Given the description of an element on the screen output the (x, y) to click on. 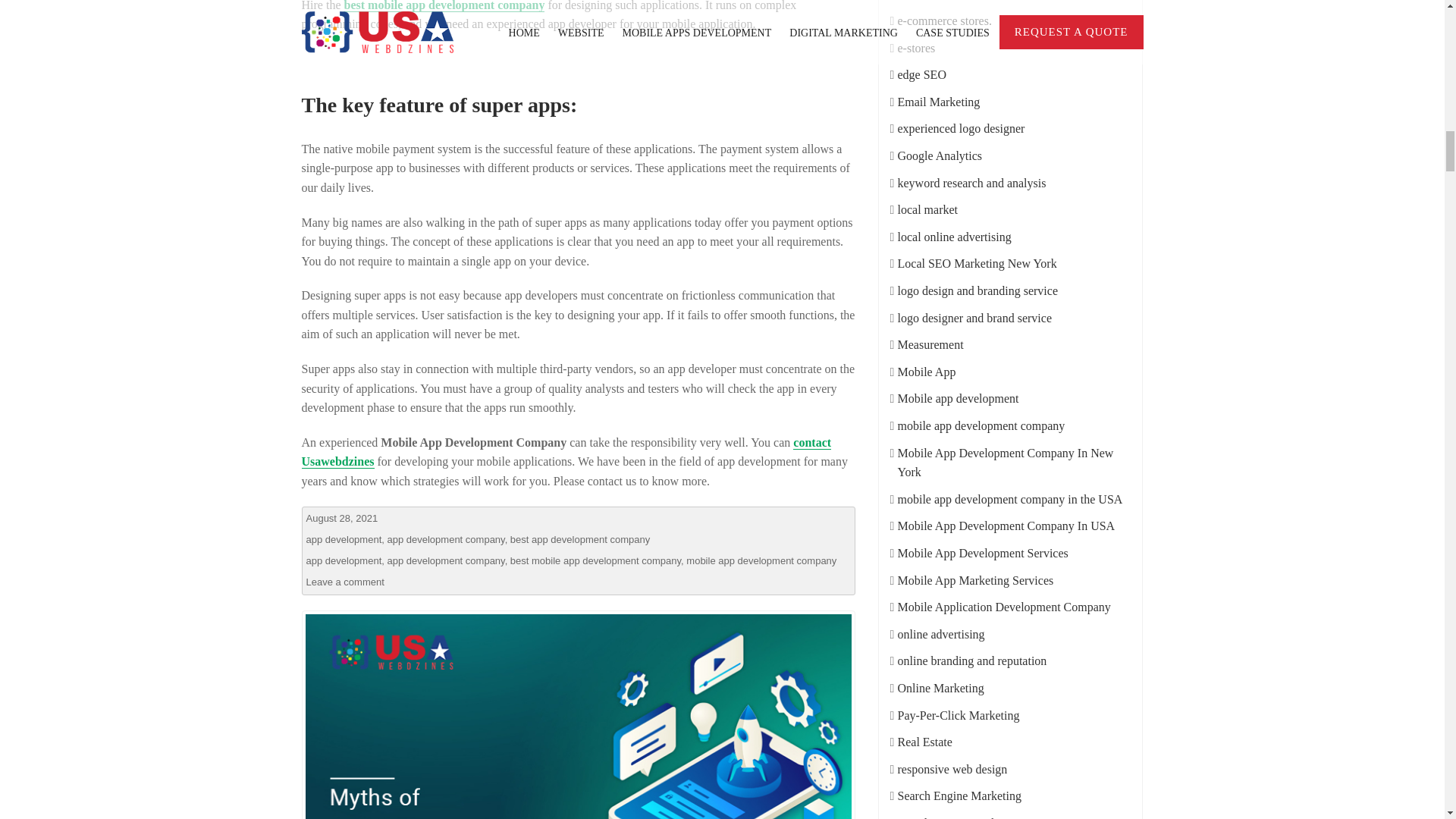
best mobile app development company (443, 5)
August 28, 2021 (341, 518)
contact Usawebdzines (566, 451)
